Given the description of an element on the screen output the (x, y) to click on. 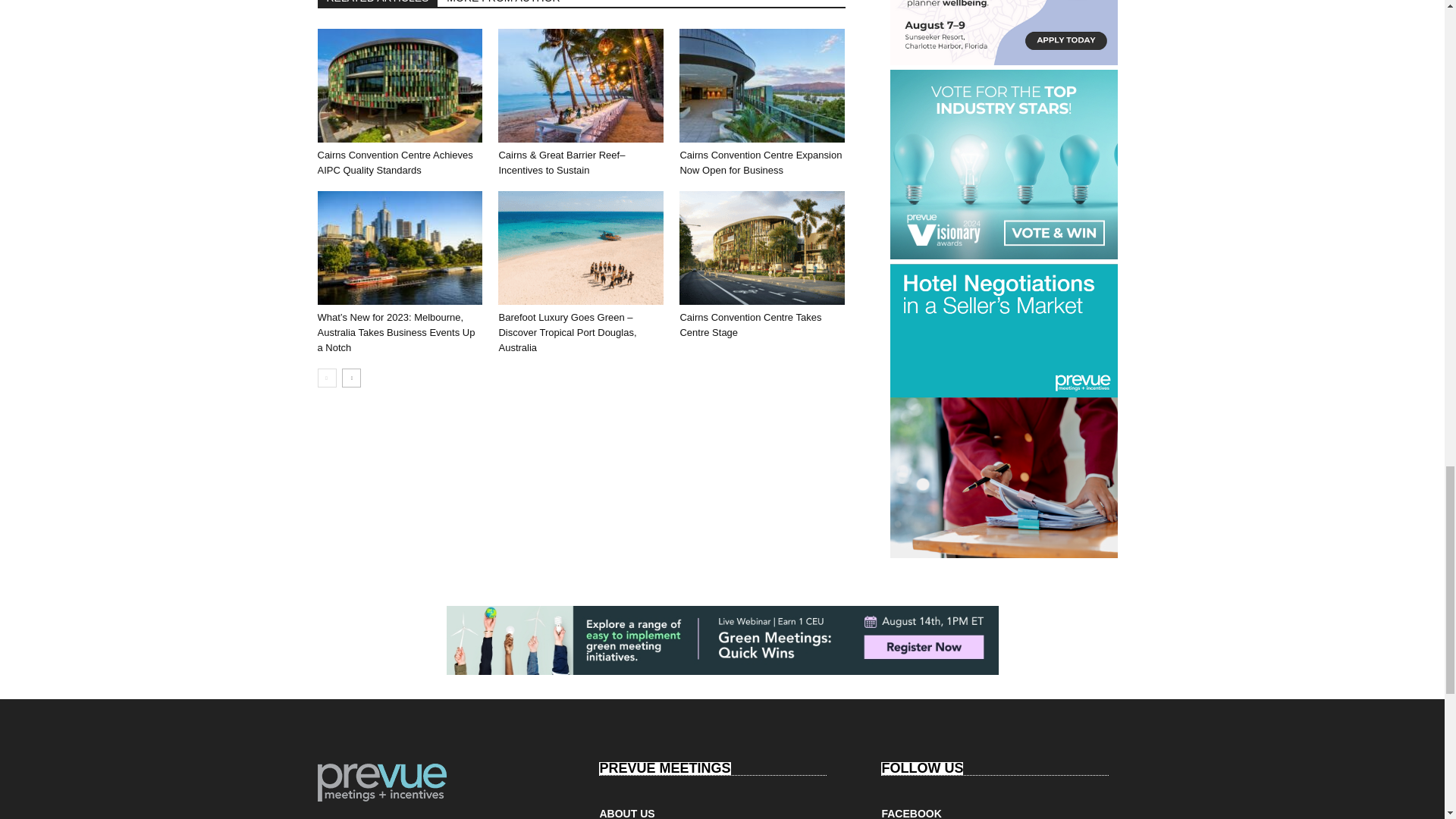
Cairns Convention Centre Achieves AIPC Quality Standards (394, 162)
Cairns Convention Centre Achieves AIPC Quality Standards (399, 85)
